Given the description of an element on the screen output the (x, y) to click on. 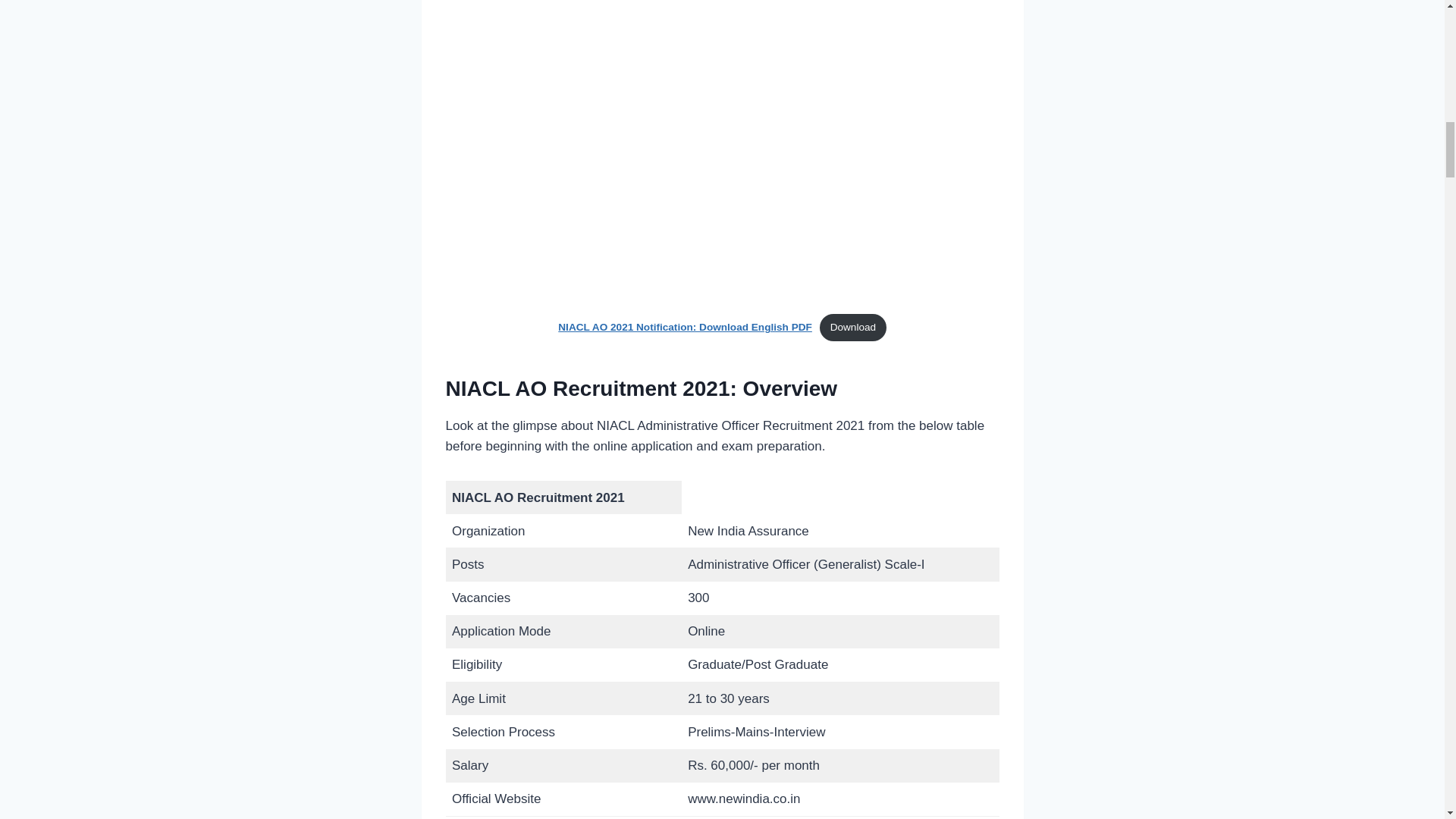
NIACL AO 2021 Notification: Download English PDF (684, 326)
Download (852, 326)
